Given the description of an element on the screen output the (x, y) to click on. 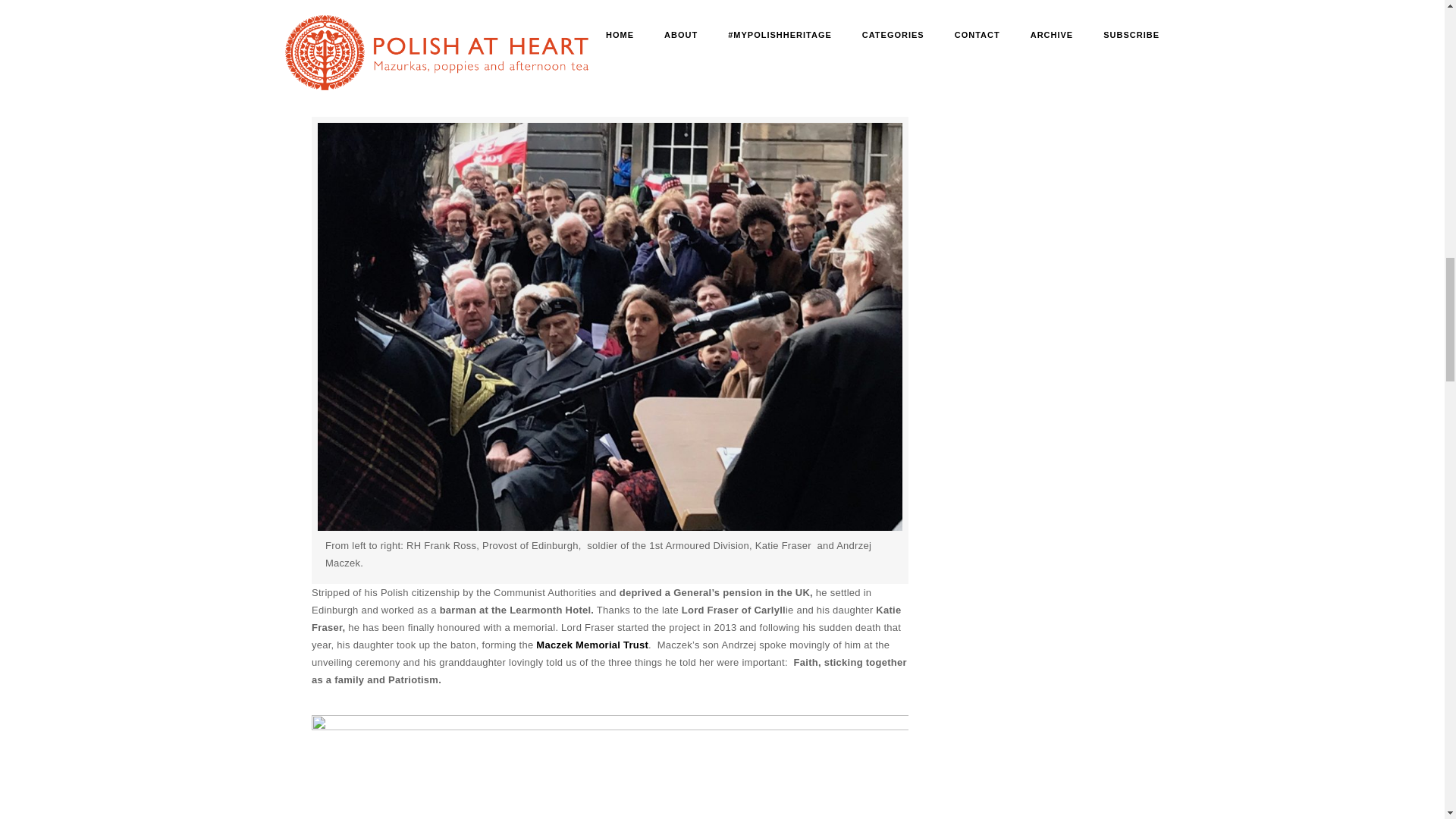
Maczek Memorial Trust (589, 644)
